Given the description of an element on the screen output the (x, y) to click on. 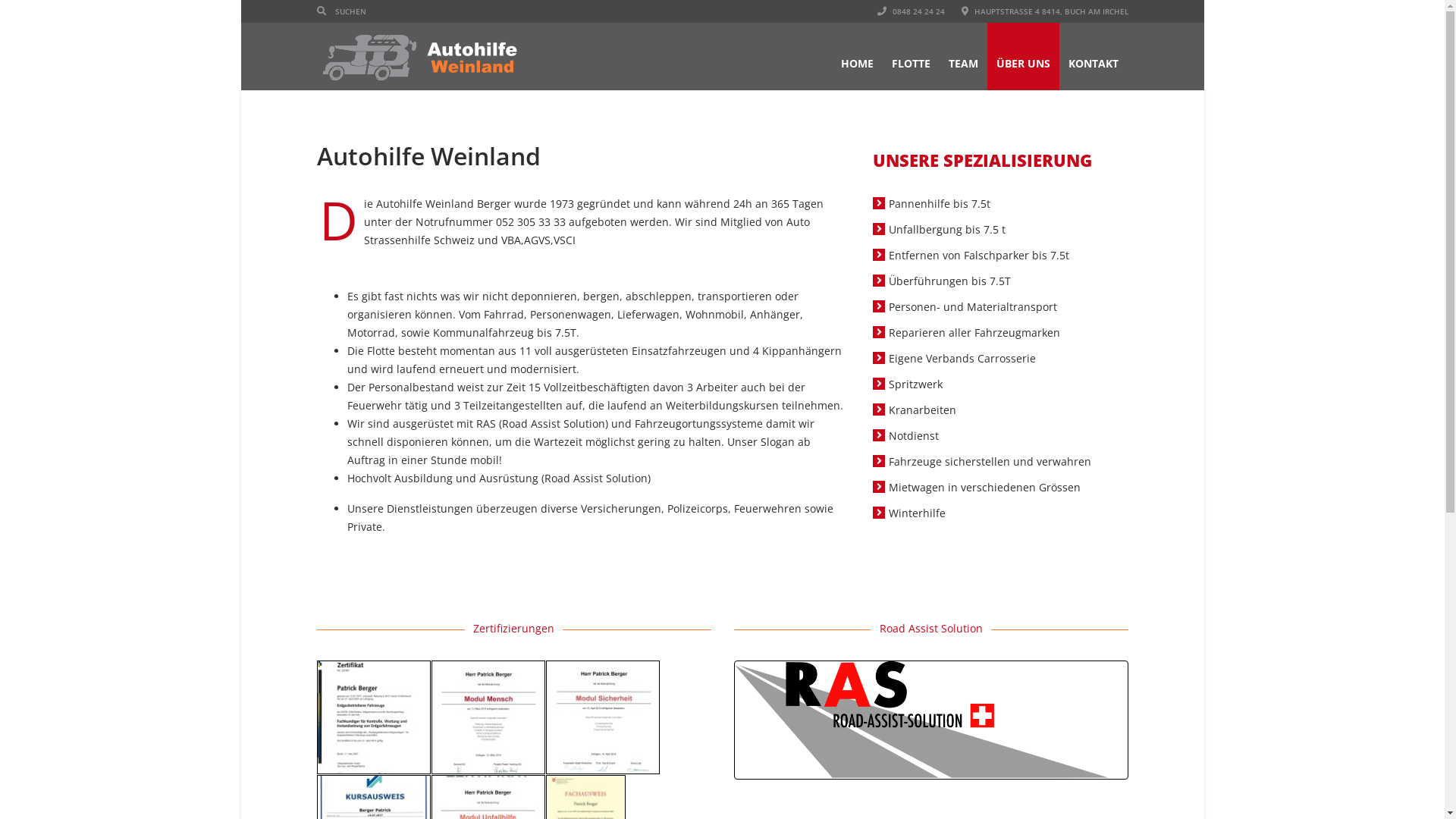
HOME Element type: text (856, 56)
0848 24 24 24 Element type: text (910, 11)
CCF28092015_0001 Element type: hover (487, 717)
RAS Element type: hover (931, 719)
FLOTTE Element type: text (910, 56)
KONTAKT Element type: text (1092, 56)
CCF28092015_0002 Element type: hover (602, 717)
TEAM Element type: text (962, 56)
HAUPTSTRASSE 4 8414, BUCH AM IRCHEL Element type: text (1044, 11)
CCF28092015 Element type: hover (373, 717)
